Given the description of an element on the screen output the (x, y) to click on. 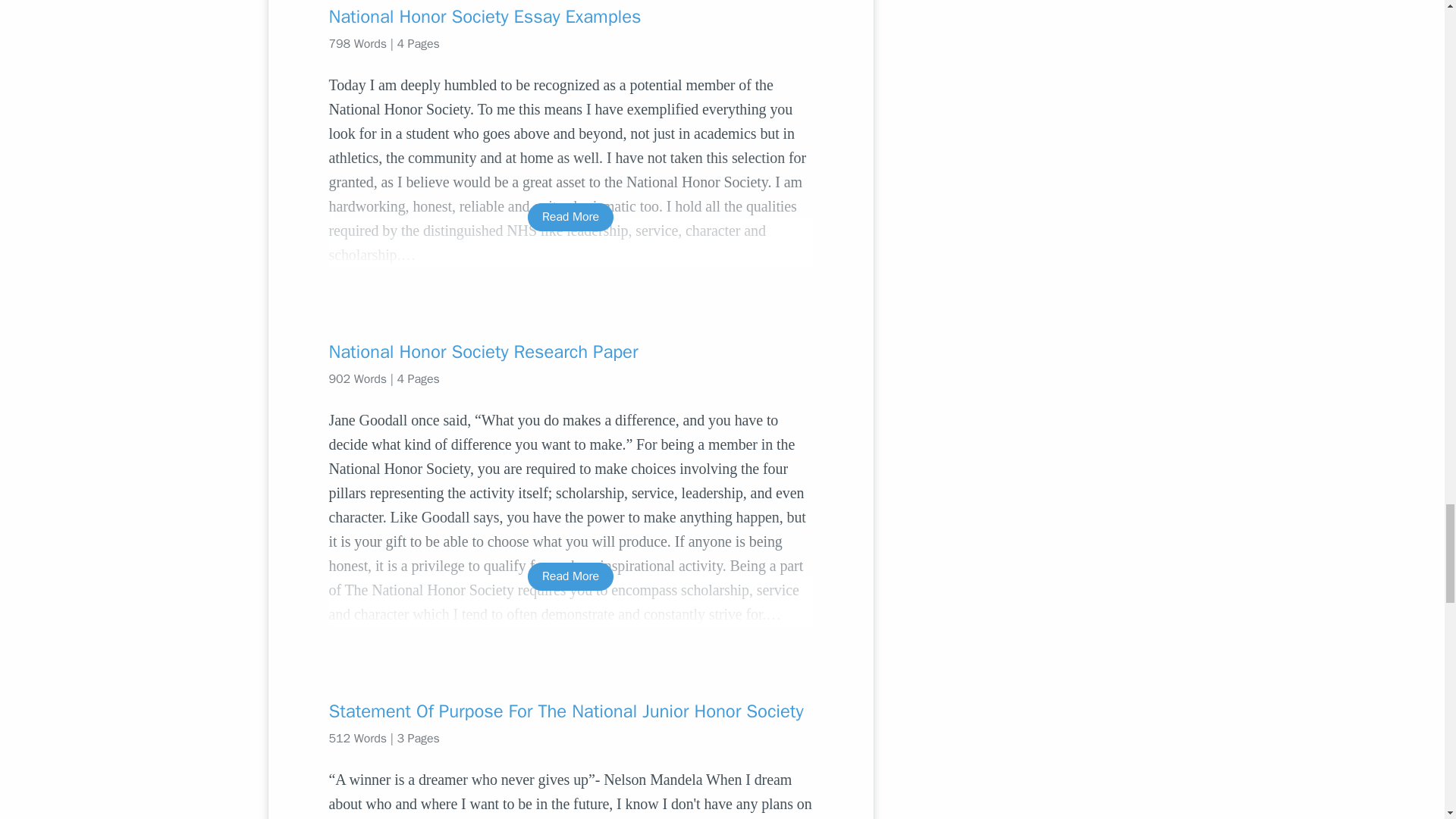
National Honor Society Essay Examples (570, 16)
Read More (569, 216)
National Honor Society Research Paper (570, 351)
